Given the description of an element on the screen output the (x, y) to click on. 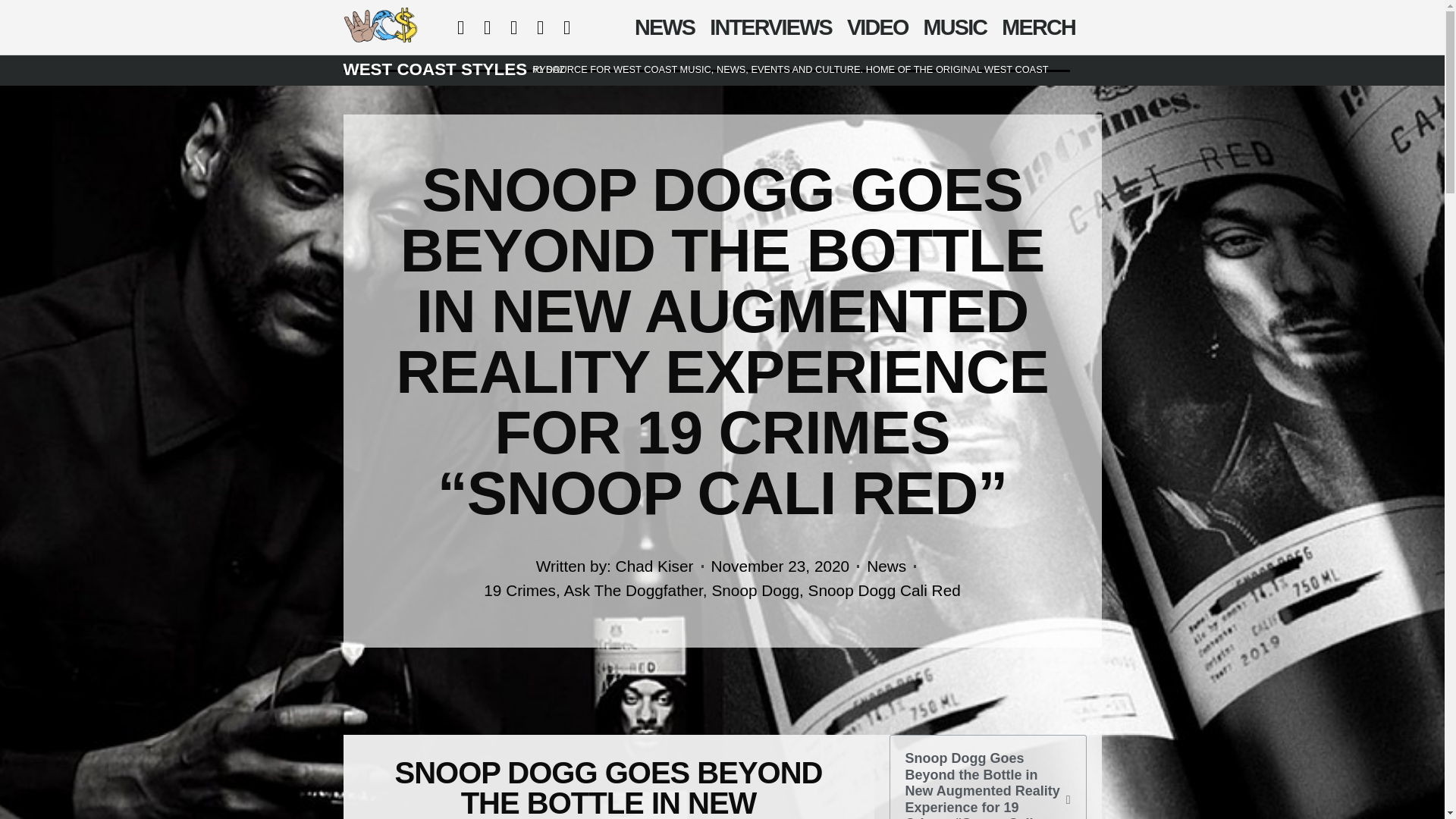
Ask The Doggfather (632, 589)
Snoop Dogg (755, 589)
MUSIC (954, 27)
NEWS (664, 27)
MERCH (1038, 27)
News (885, 565)
VIDEO (877, 27)
November 23, 2020 (780, 566)
19 Crimes (519, 589)
Written by: Chad Kiser (614, 566)
INTERVIEWS (770, 27)
